Given the description of an element on the screen output the (x, y) to click on. 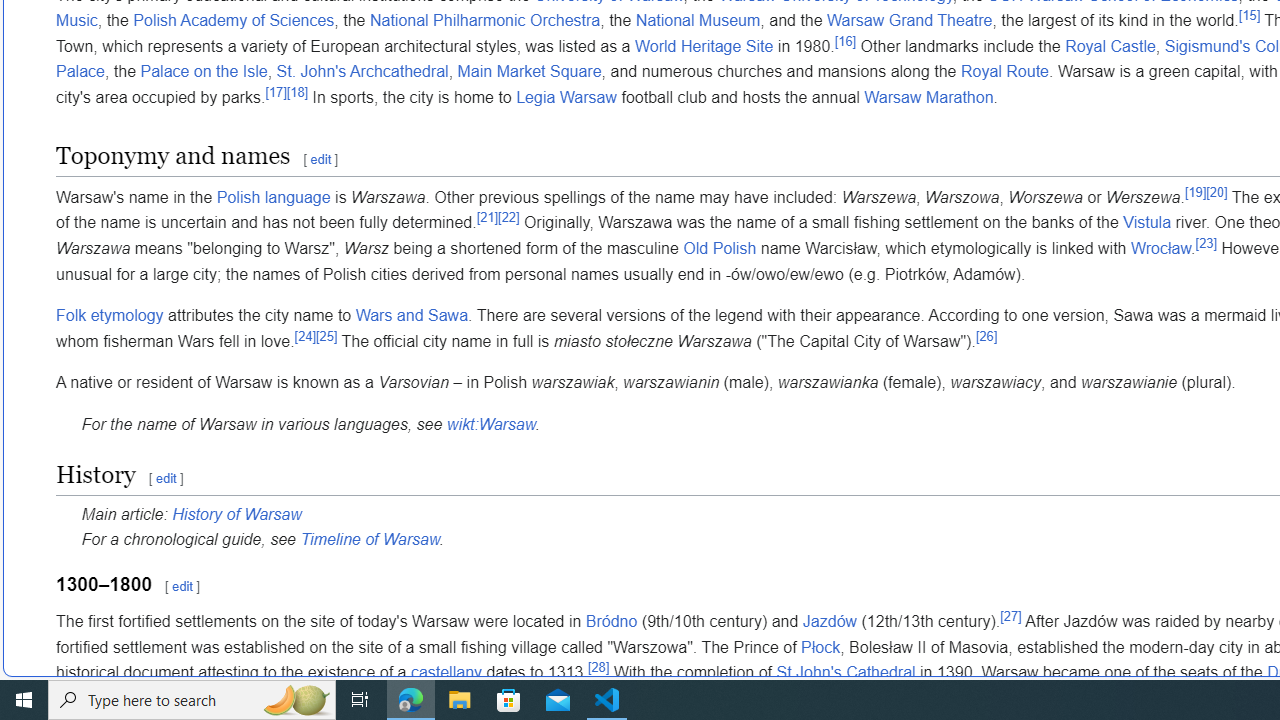
[24] (305, 336)
National Museum (697, 21)
[17] (275, 92)
[26] (986, 336)
[15] (1248, 15)
Wars and Sawa (411, 315)
Vistula (1147, 222)
National Philharmonic Orchestra (484, 21)
[16] (845, 40)
wikt:Warsaw (490, 423)
